Given the description of an element on the screen output the (x, y) to click on. 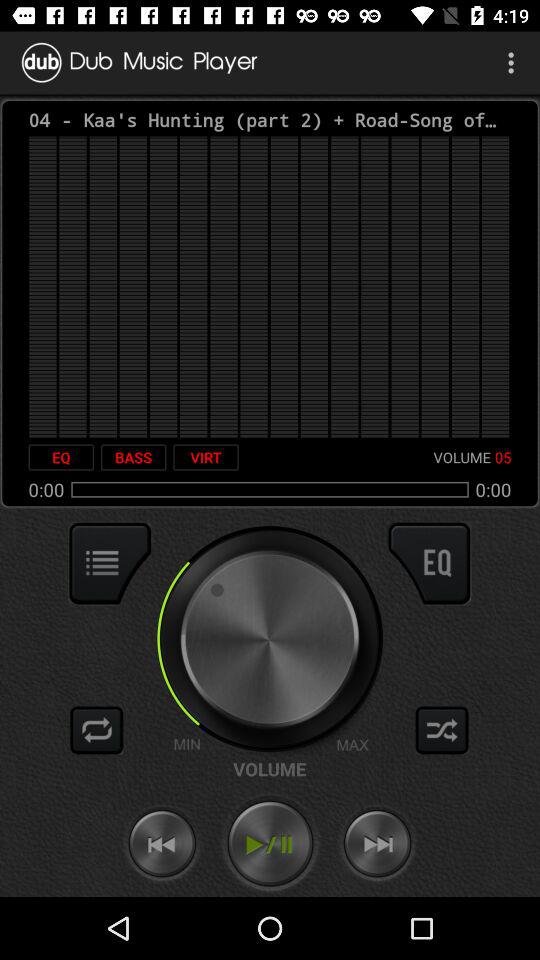
press item next to the  virt (133, 457)
